Given the description of an element on the screen output the (x, y) to click on. 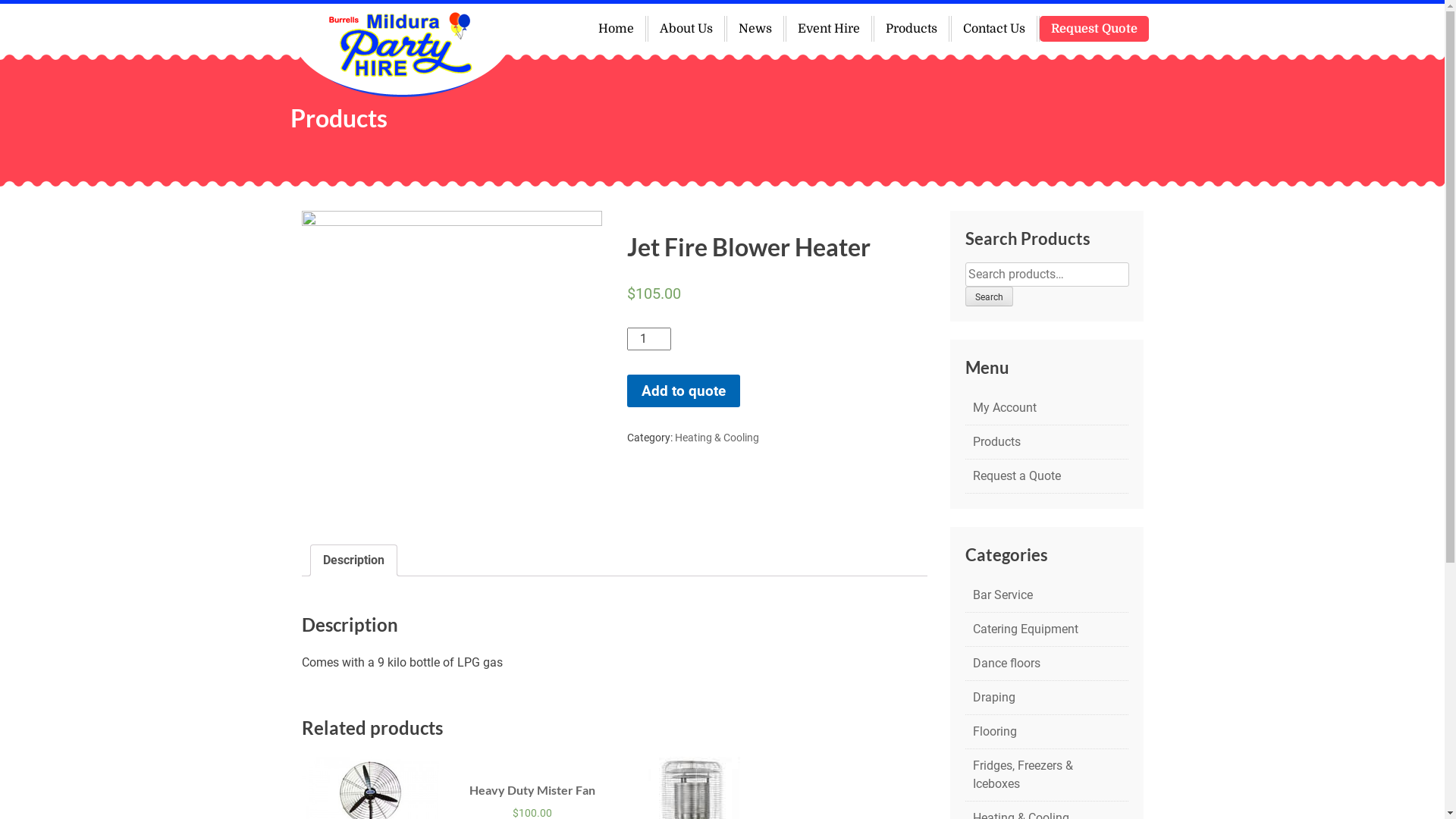
Draping Element type: text (1045, 697)
Dance floors Element type: text (1045, 663)
Catering Equipment Element type: text (1045, 629)
Search Element type: text (988, 296)
Contact Us Element type: text (992, 28)
Add to quote Element type: text (682, 390)
Blower Heater-01 Element type: hover (451, 365)
Products Element type: text (1045, 441)
Flooring Element type: text (1045, 731)
News Element type: text (754, 28)
Event Hire Element type: text (827, 28)
About Us Element type: text (685, 28)
Description Element type: text (353, 560)
My Account Element type: text (1045, 407)
Bar Service Element type: text (1045, 594)
Qty Element type: hover (648, 338)
Fridges, Freezers & Iceboxes Element type: text (1045, 774)
Heating & Cooling Element type: text (716, 437)
Request a Quote Element type: text (1045, 475)
Request Quote Element type: text (1093, 28)
Home Element type: text (615, 28)
Products Element type: text (910, 28)
